Given the description of an element on the screen output the (x, y) to click on. 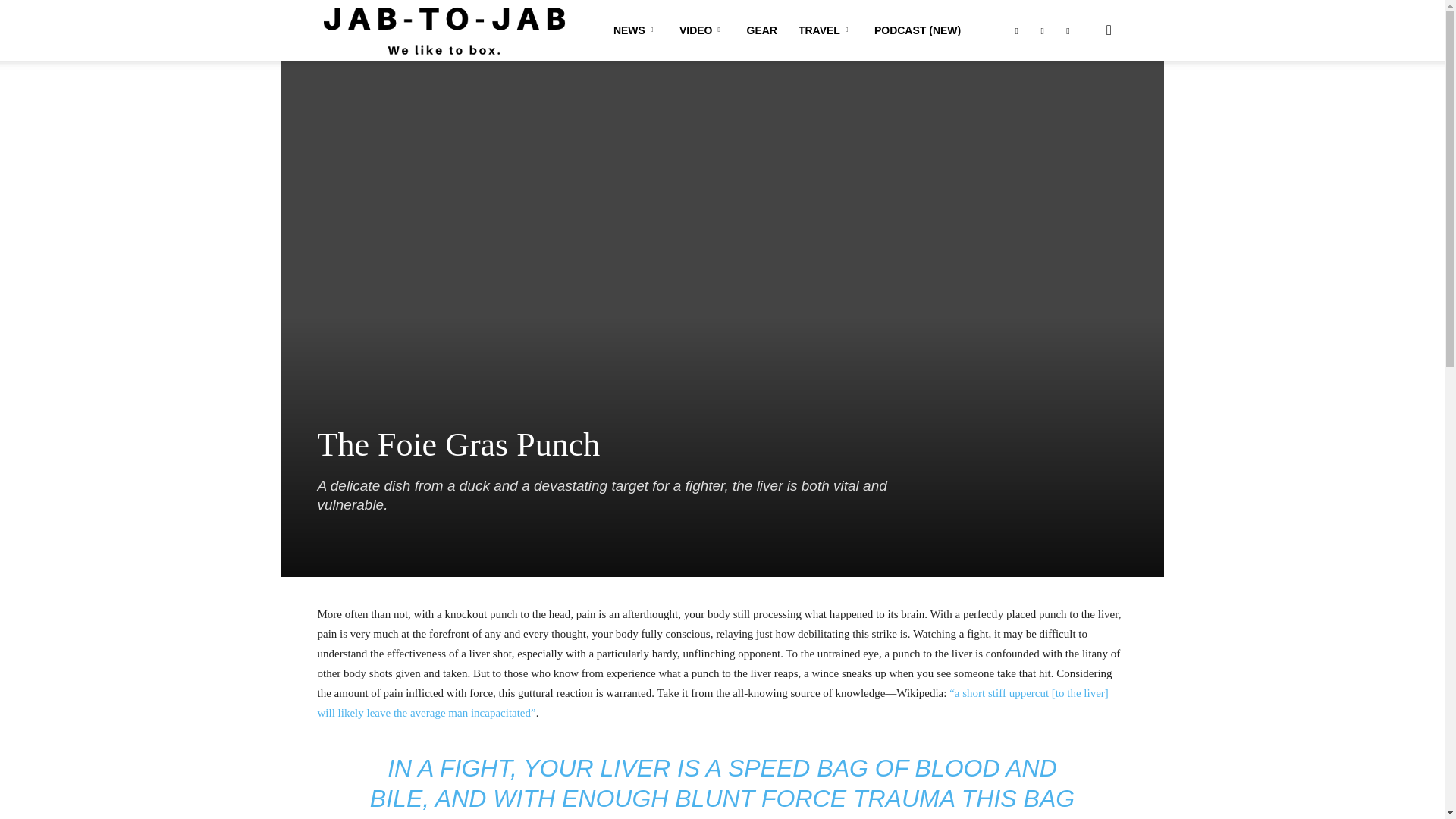
NEWS (635, 30)
Search (1085, 102)
JAB-TO-JAB (443, 30)
VIDEO (702, 30)
JAB-TO-JAB (443, 30)
